Given the description of an element on the screen output the (x, y) to click on. 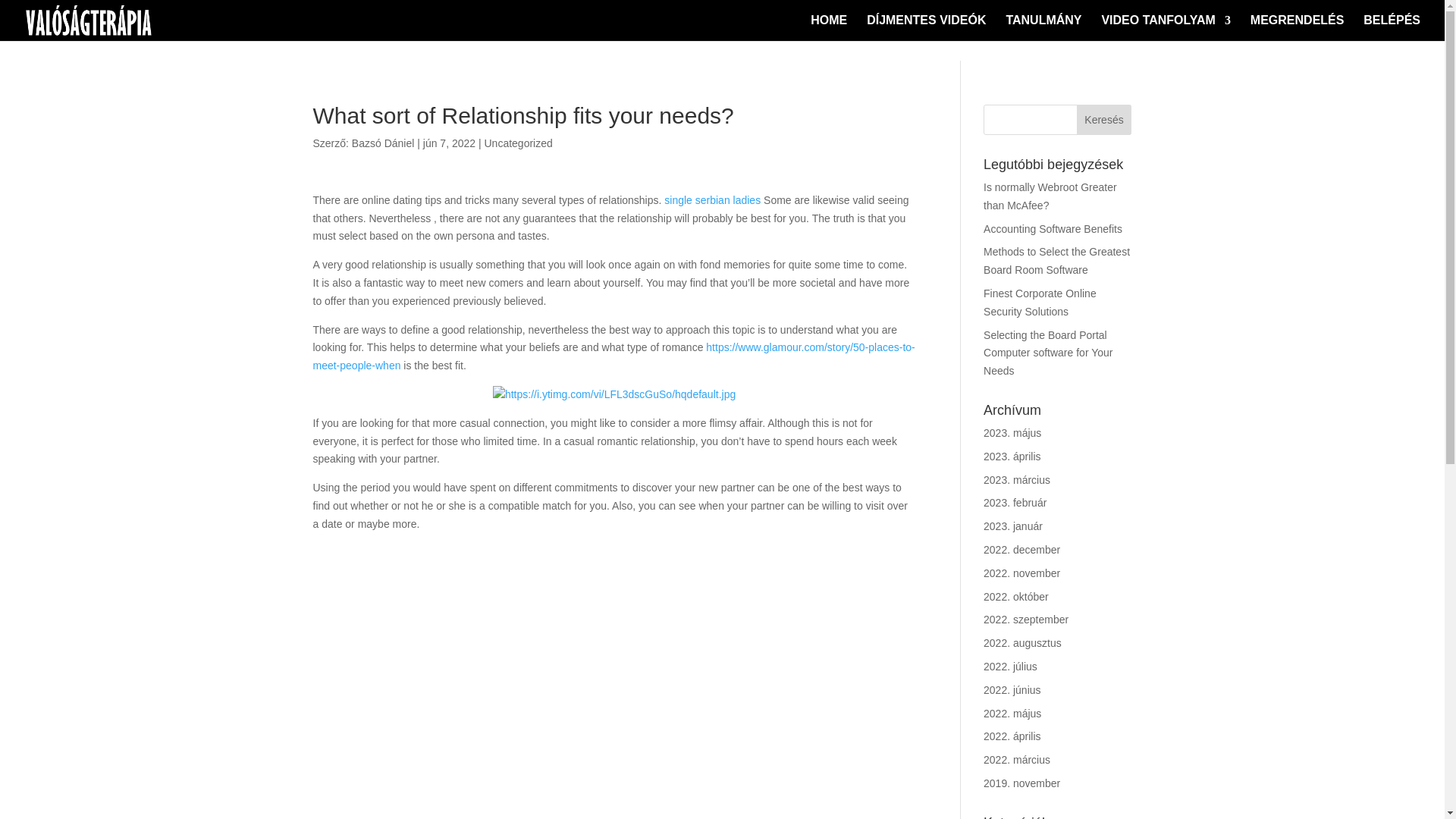
2022. szeptember (1026, 619)
VIDEO TANFOLYAM (1165, 27)
Accounting Software Benefits (1053, 228)
HOME (828, 27)
Selecting the Board Portal Computer software for Your Needs (1048, 353)
Finest Corporate Online Security Solutions (1040, 302)
2022. november (1021, 573)
single serbian ladies (711, 200)
Uncategorized (517, 143)
Methods to Select the Greatest Board Room Software (1056, 260)
